Given the description of an element on the screen output the (x, y) to click on. 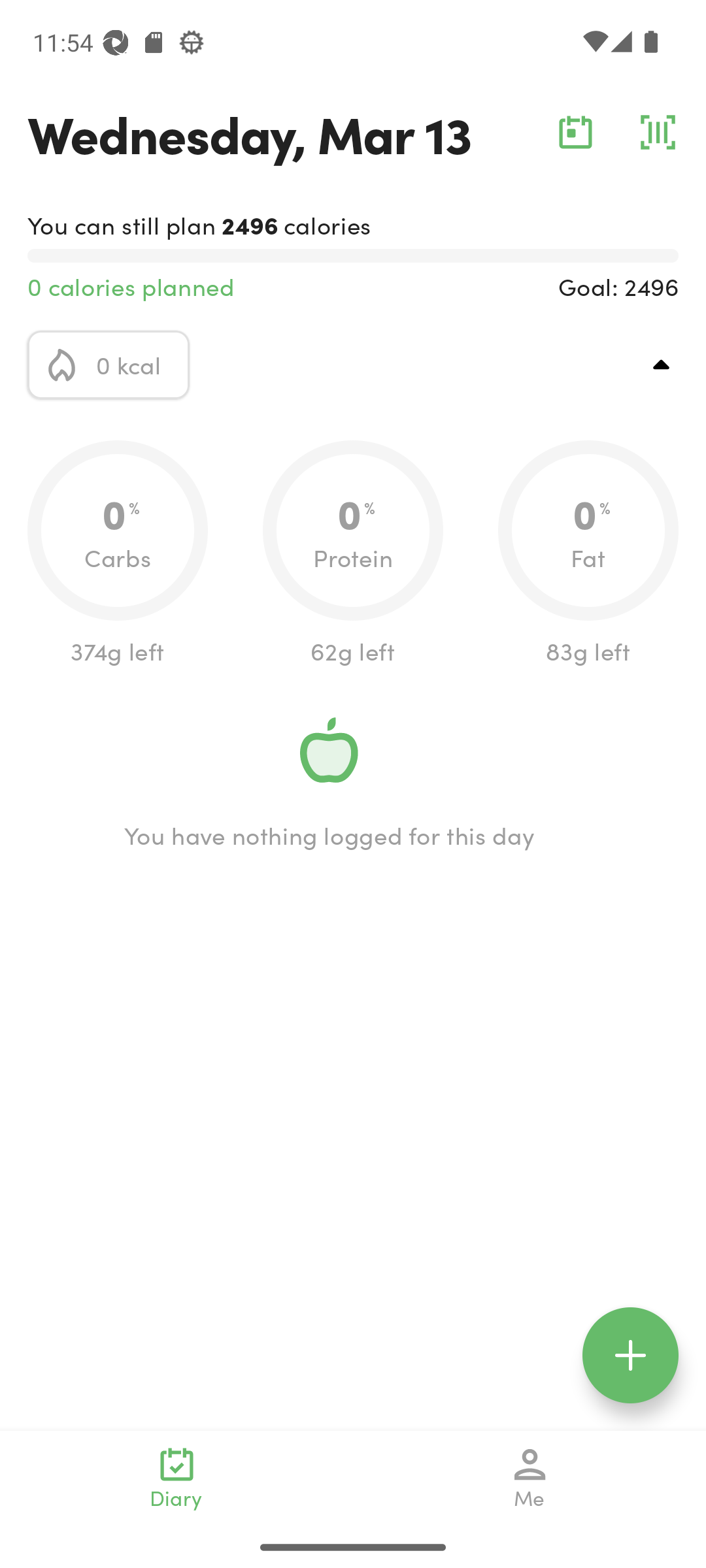
calendar_action (575, 132)
barcode_action (658, 132)
calorie_icon 0 kcal (108, 365)
top_right_action (661, 365)
0.0 0 % Carbs 374g left (117, 553)
0.0 0 % Protein 62g left (352, 553)
0.0 0 % Fat 83g left (588, 553)
floating_action_icon (630, 1355)
Me navigation_icon (529, 1478)
